Given the description of an element on the screen output the (x, y) to click on. 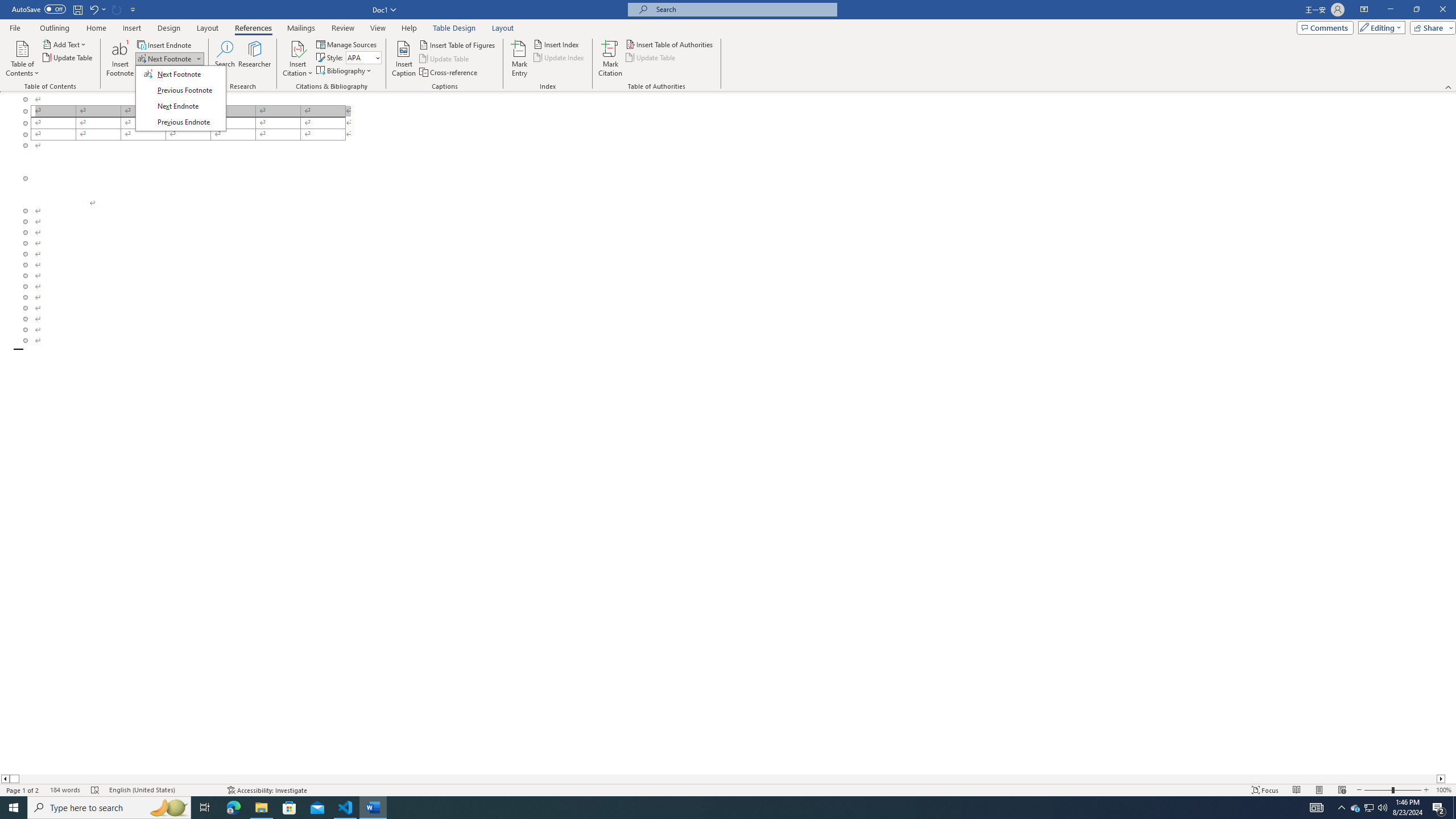
Column right (1441, 778)
Next Footnote (169, 58)
Undo Outline Move Up (96, 9)
Undo Outline Move Up (92, 9)
Word - 1 running window (373, 807)
Notification Chevron (1341, 807)
Action Center, 2 new notifications (1439, 807)
Insert Footnote (119, 58)
Table of Contents (1355, 807)
